Given the description of an element on the screen output the (x, y) to click on. 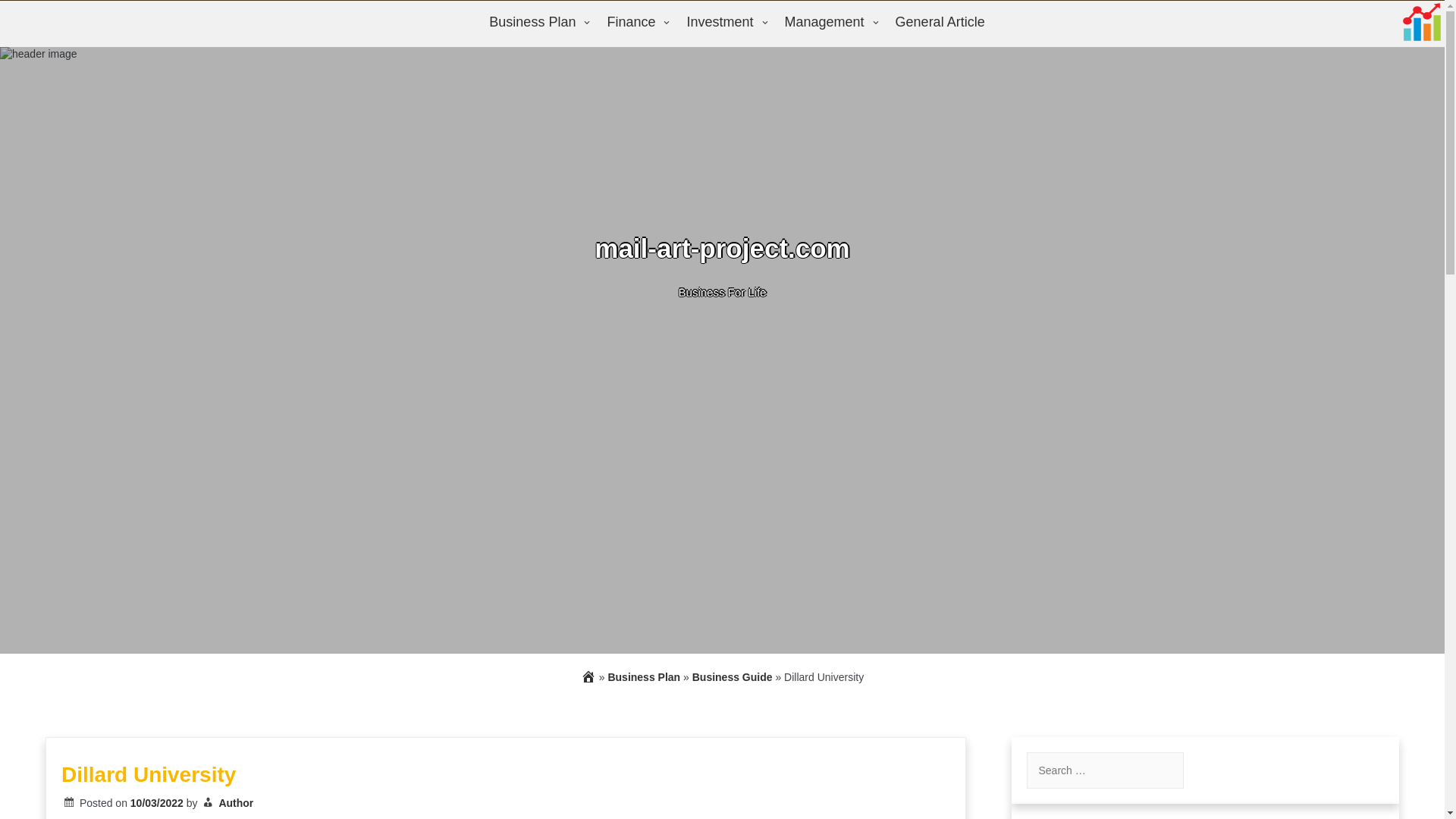
Business Plan (643, 676)
Finance (635, 22)
Business Plan (536, 22)
Business Guide (733, 676)
mail-art-project.com (721, 247)
Investment (724, 22)
General Article (940, 22)
Author (235, 802)
Management (828, 22)
